Given the description of an element on the screen output the (x, y) to click on. 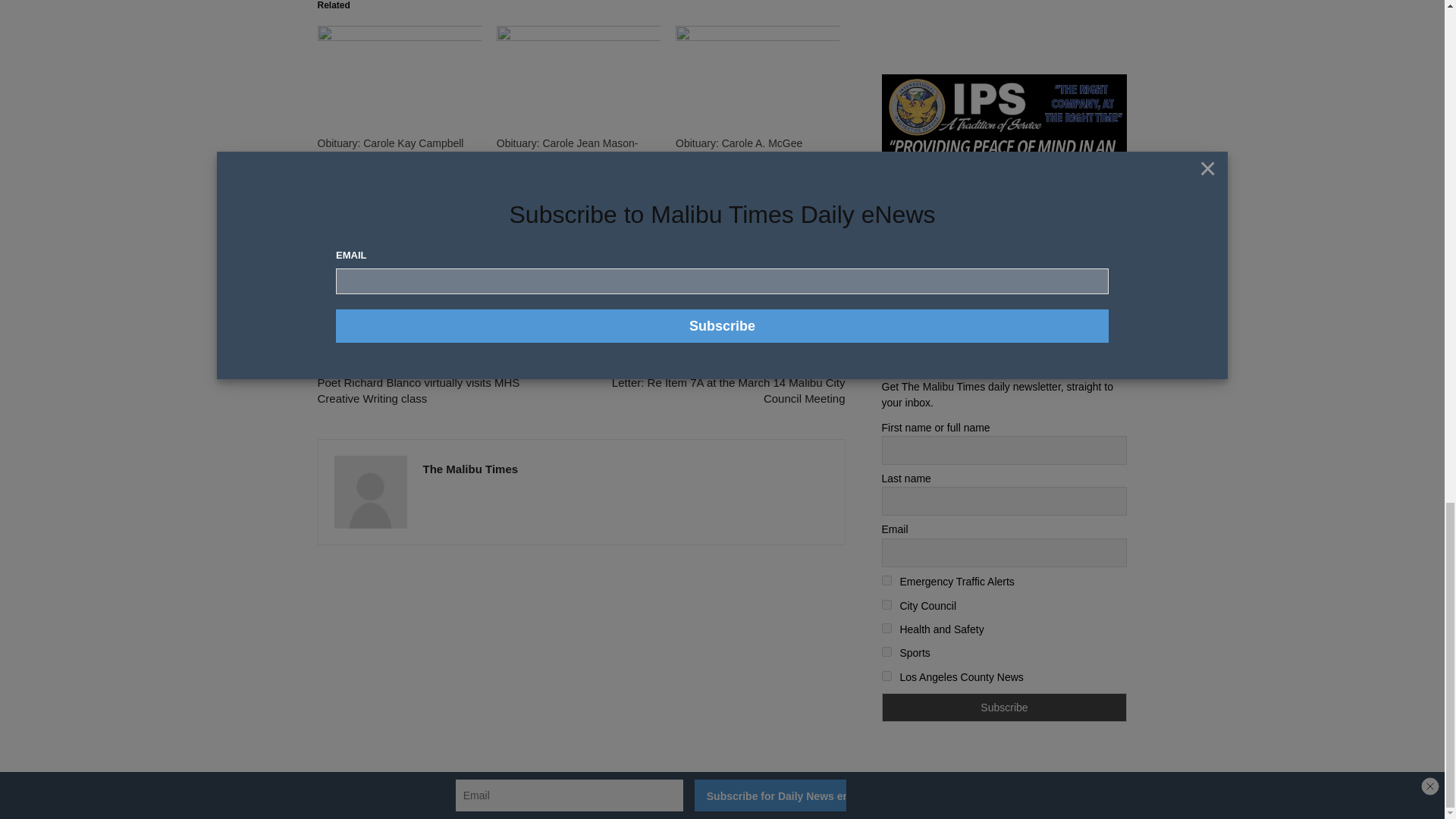
3 (885, 604)
4 (885, 628)
5 (885, 651)
Subscribe (1003, 706)
2 (885, 580)
6 (885, 675)
